Given the description of an element on the screen output the (x, y) to click on. 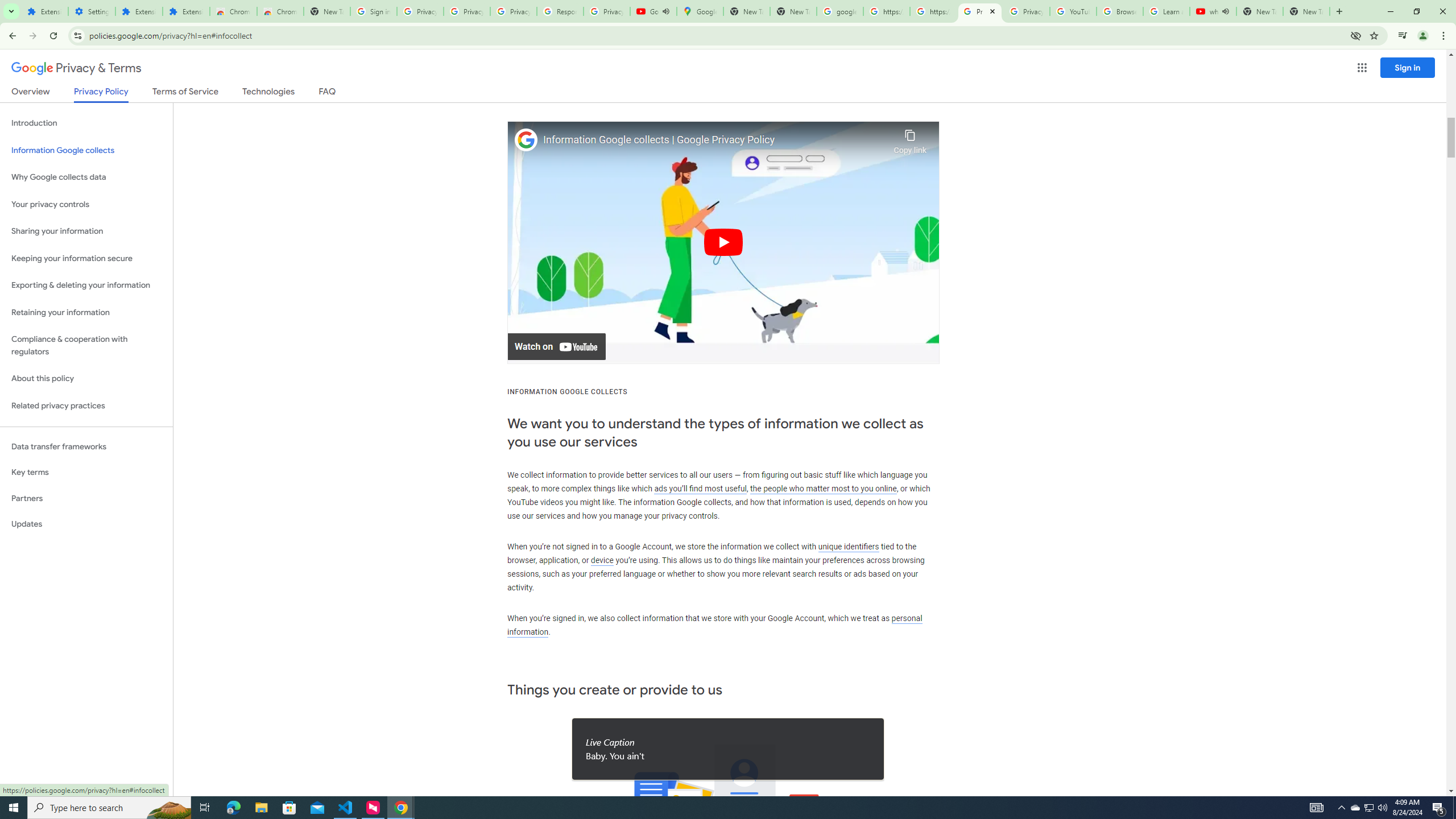
Mute tab (1225, 10)
